Given the description of an element on the screen output the (x, y) to click on. 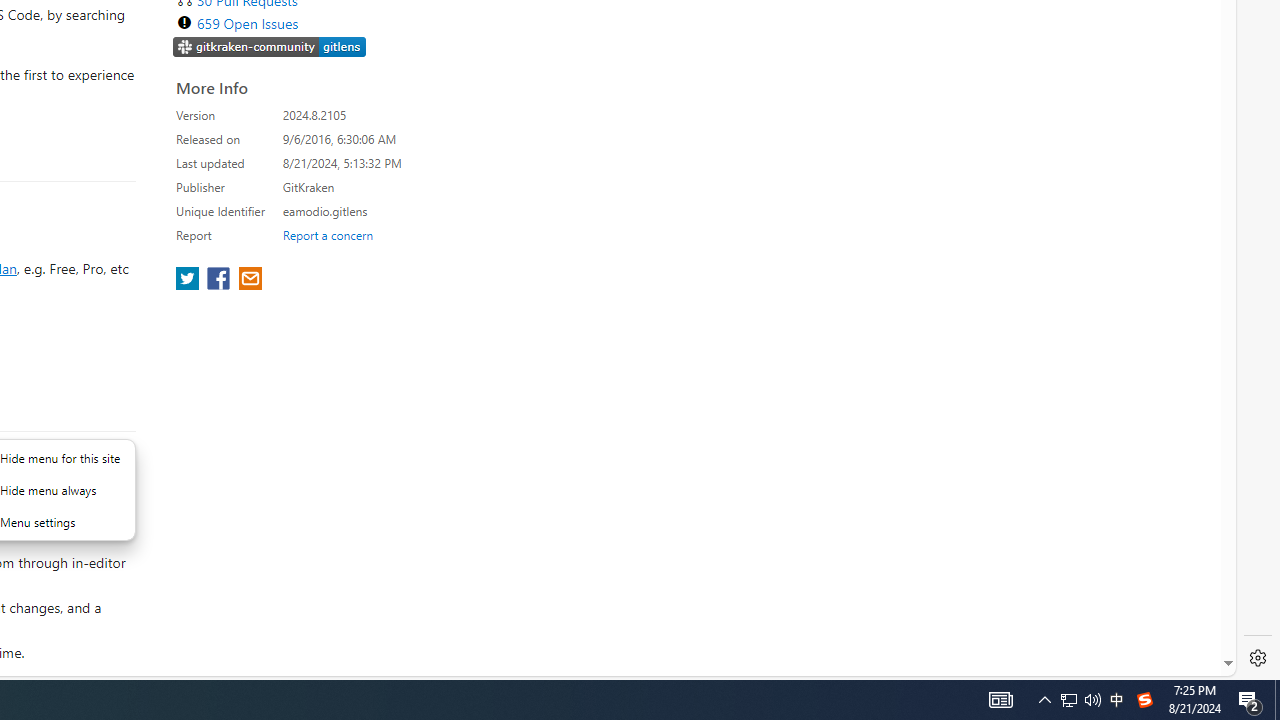
https://slack.gitkraken.com// (269, 48)
share extension on twitter (190, 280)
https://slack.gitkraken.com// (269, 46)
share extension on email (249, 280)
share extension on facebook (220, 280)
Report a concern (327, 234)
